Given the description of an element on the screen output the (x, y) to click on. 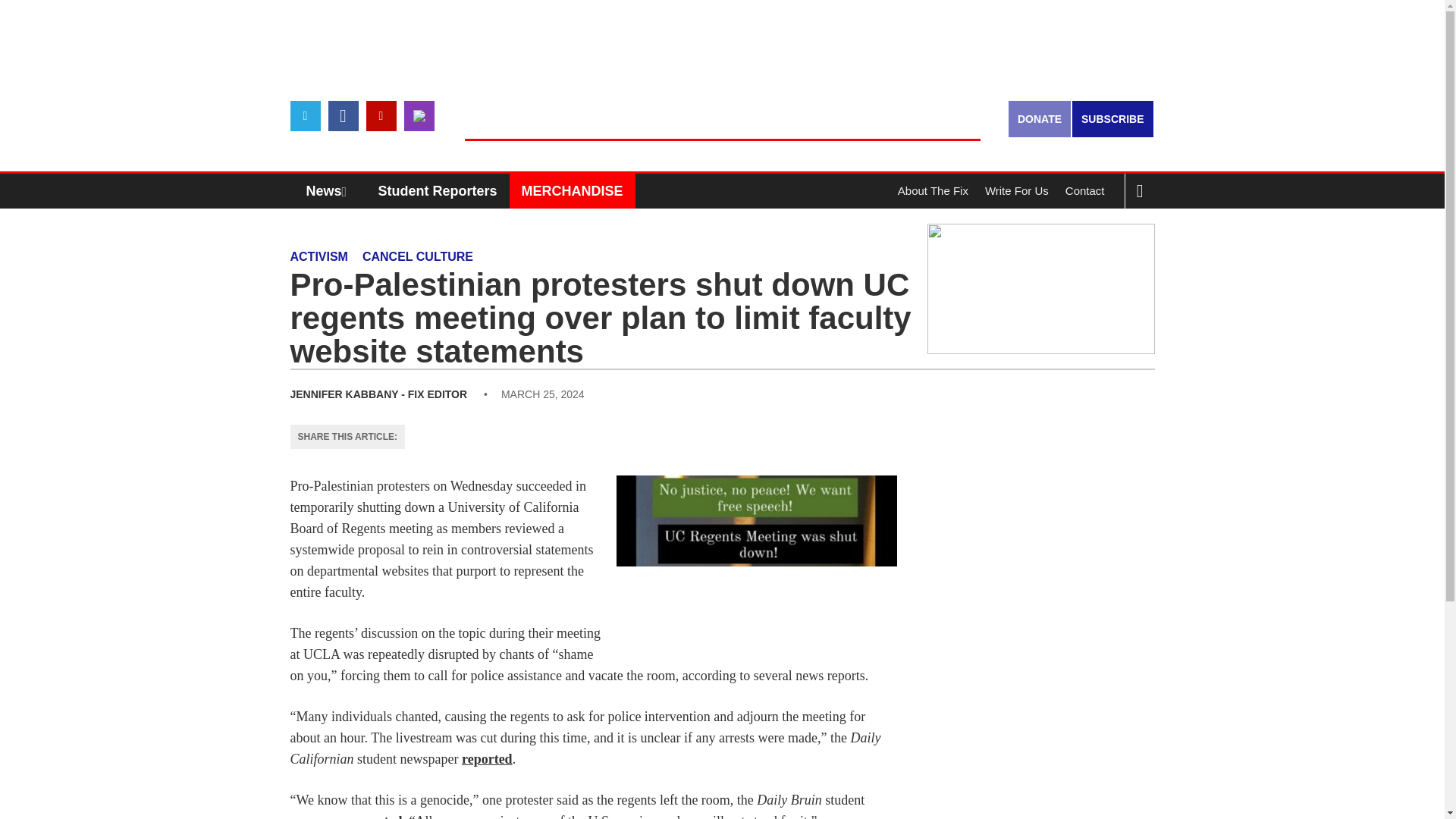
About The Fix (932, 190)
News (330, 190)
DONATE (1039, 118)
Student Reporters (437, 190)
SUBSCRIBE (1112, 118)
The College Fix (721, 114)
MERCHANDISE (571, 190)
